Given the description of an element on the screen output the (x, y) to click on. 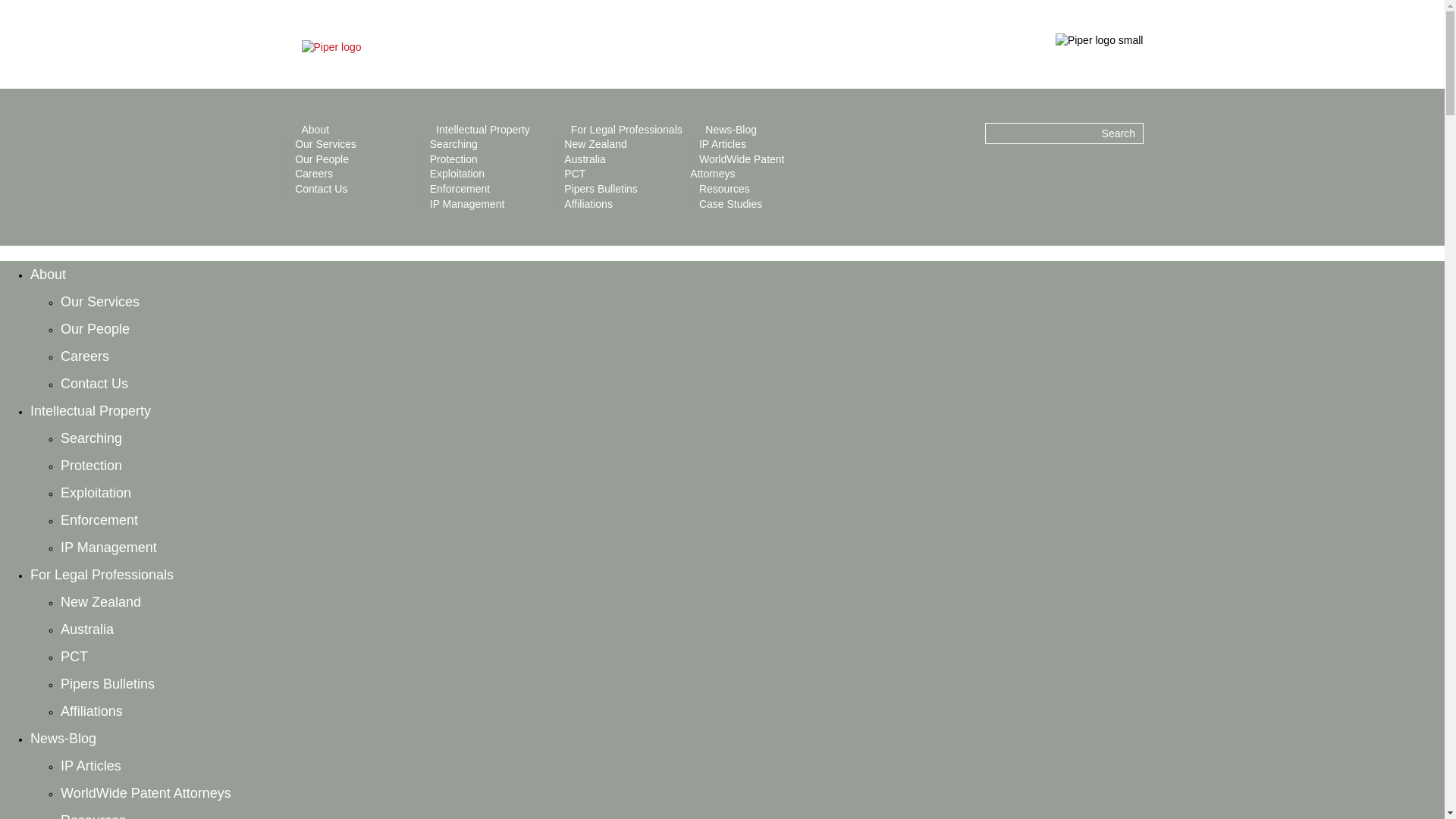
Searching (91, 437)
News-Blog (730, 129)
IP Management (467, 203)
New Zealand (101, 601)
Australia (87, 629)
New Zealand (595, 143)
Protection (453, 159)
WorldWide Patent Attorneys (737, 166)
Resources (723, 188)
Australia (584, 159)
Our Services (325, 143)
Careers (314, 173)
IP Management (109, 547)
Enforcement (459, 188)
About (315, 129)
